Given the description of an element on the screen output the (x, y) to click on. 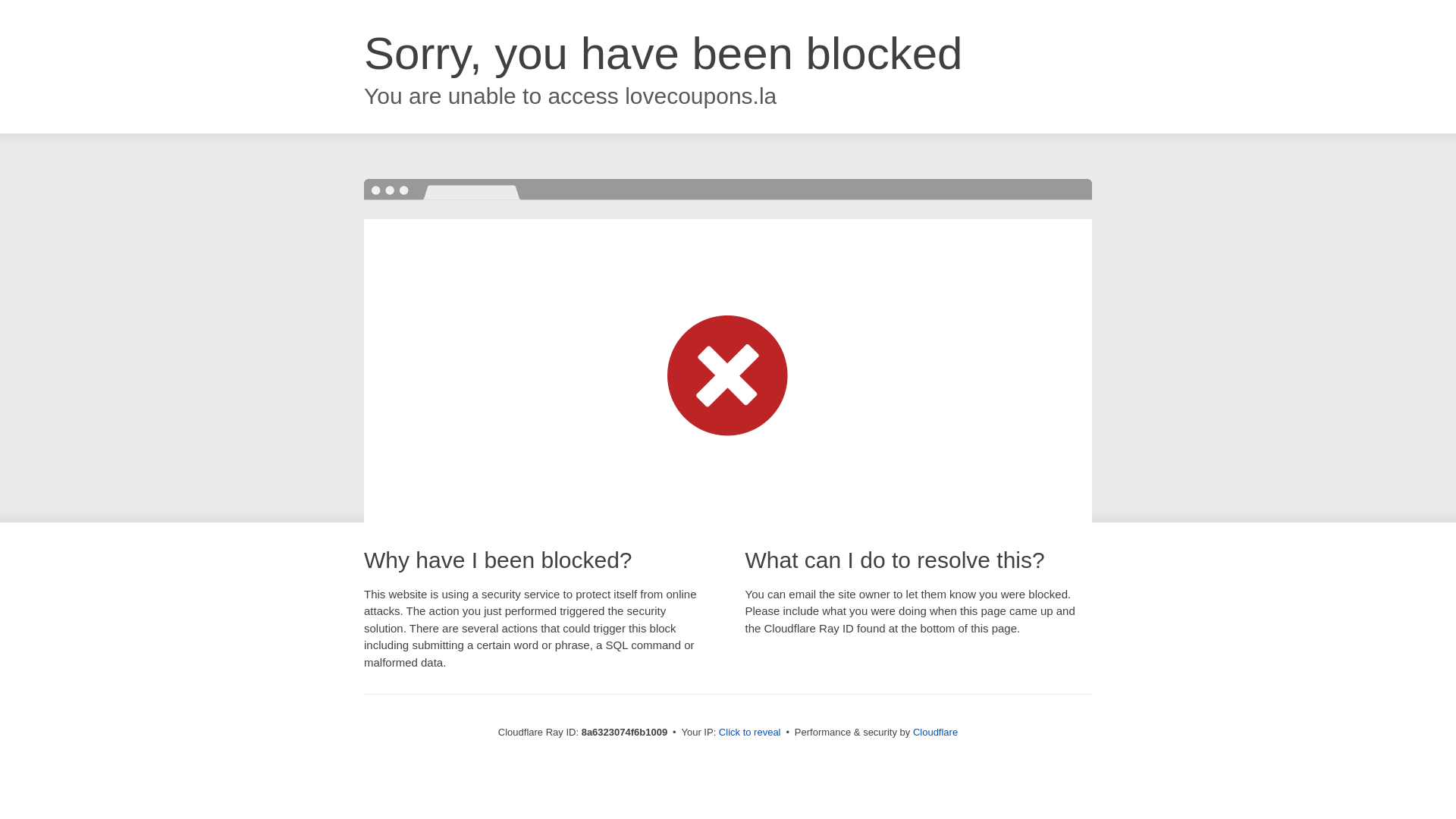
Cloudflare (935, 731)
Click to reveal (749, 732)
